Given the description of an element on the screen output the (x, y) to click on. 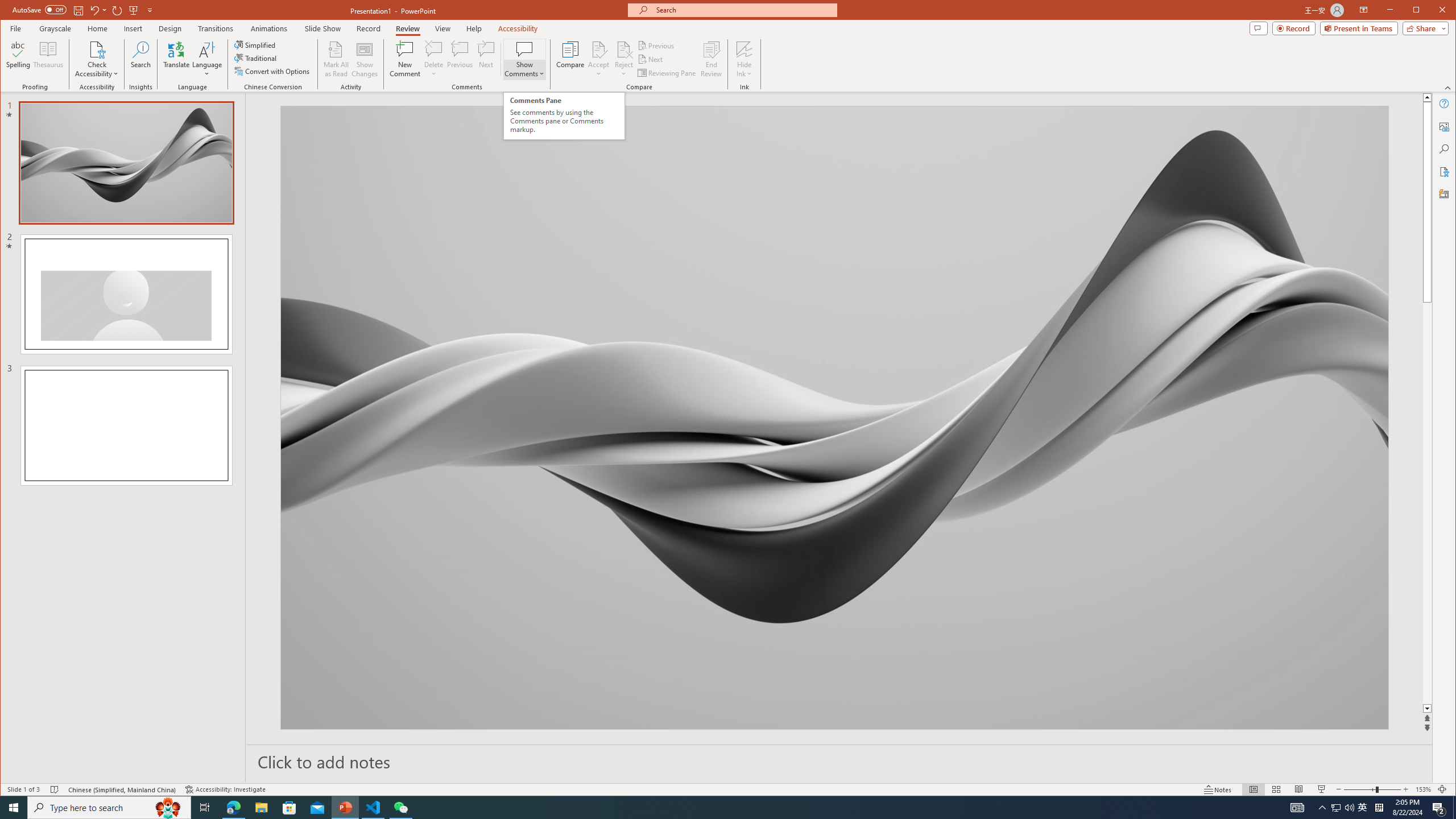
New Comment (405, 59)
Class: MsoCommandBar (728, 789)
Alt Text (1362, 807)
Hide Ink (1444, 125)
Check Accessibility (744, 59)
WeChat - 1 running window (96, 48)
Show desktop (400, 807)
